Given the description of an element on the screen output the (x, y) to click on. 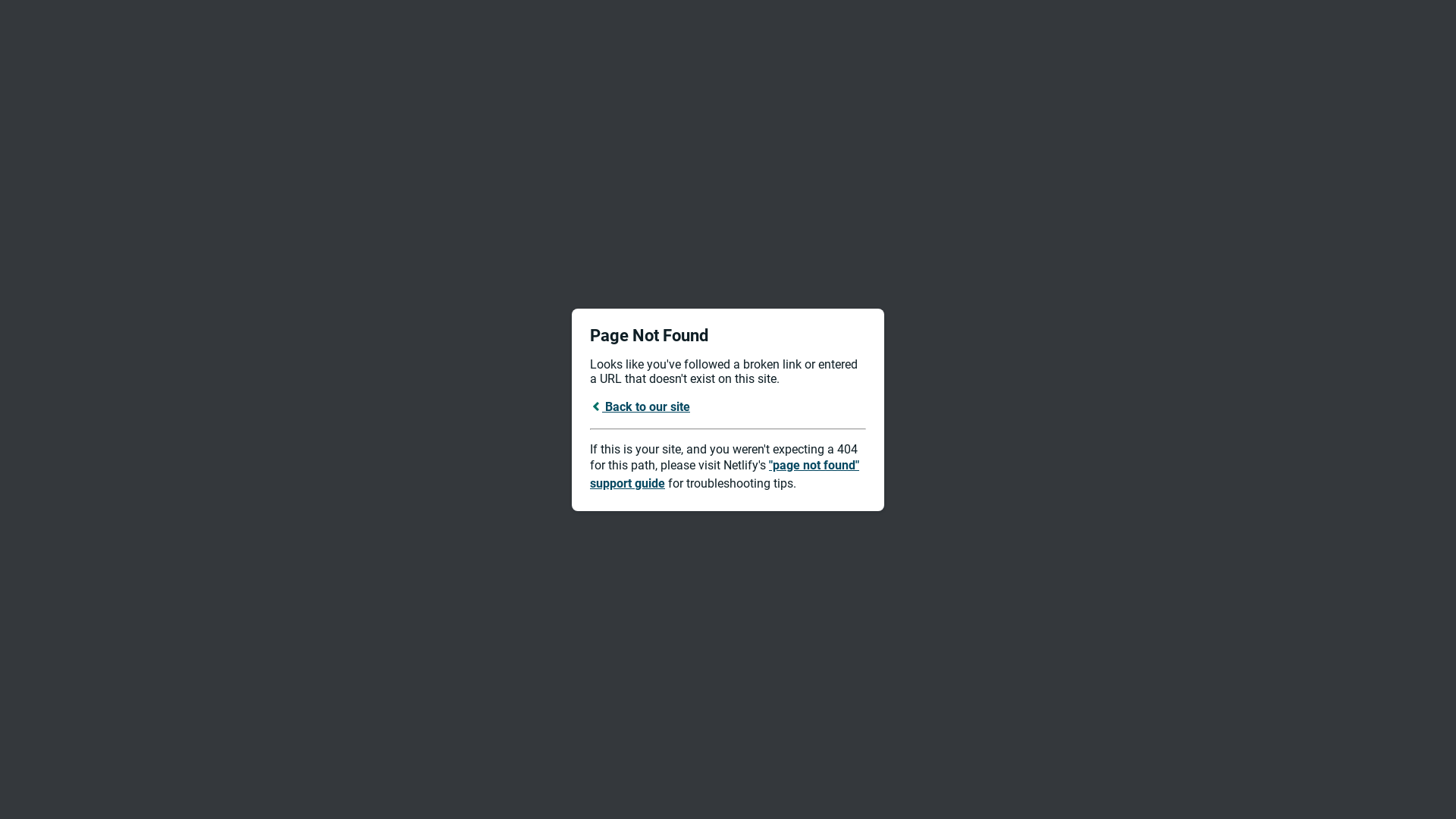
Back to our site Element type: text (639, 405)
"page not found" support guide Element type: text (724, 474)
